Given the description of an element on the screen output the (x, y) to click on. 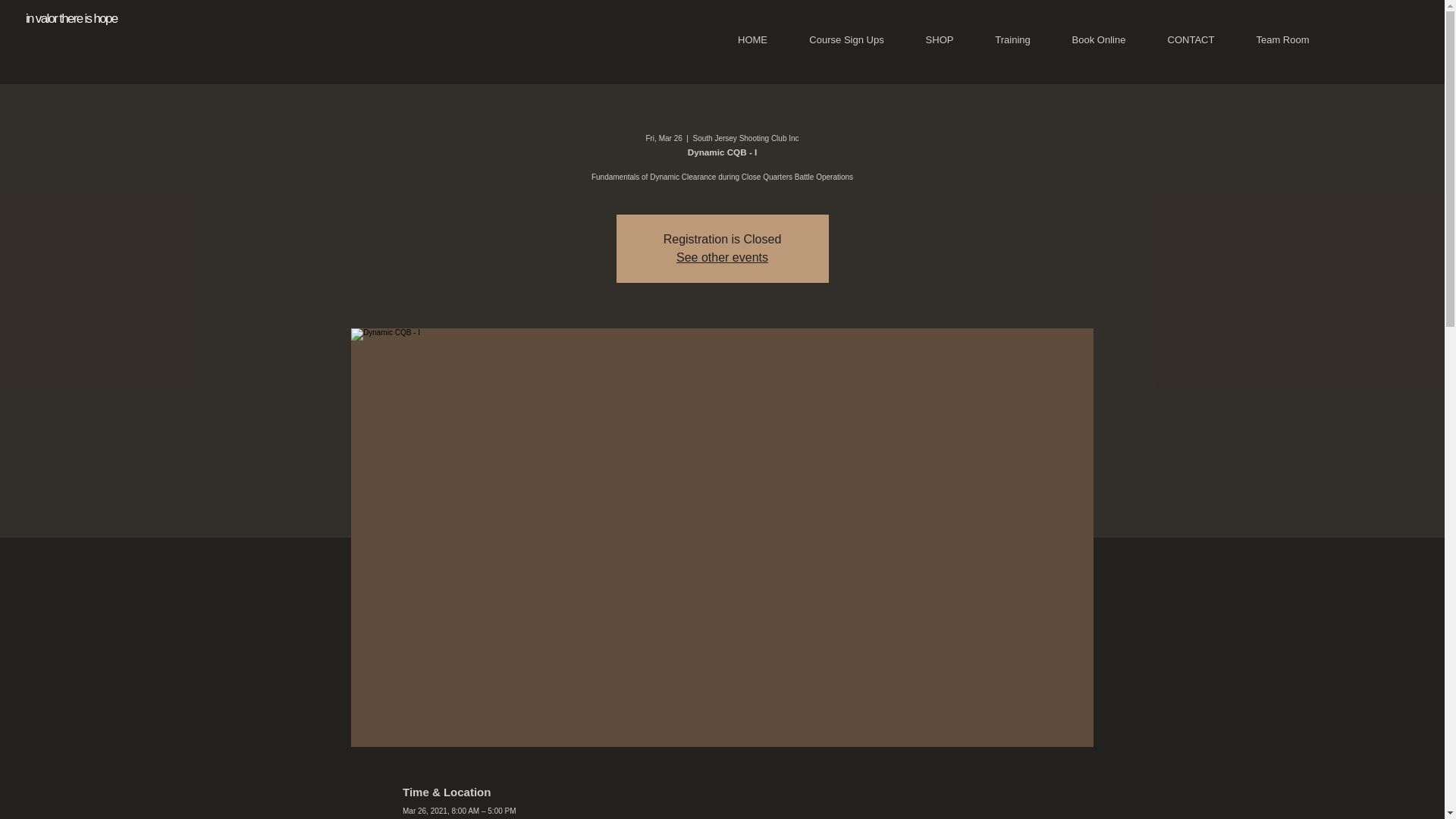
CONTACT (1190, 39)
SHOP (939, 39)
Team Room (1282, 39)
See other events (722, 256)
in valor there is hope (71, 18)
Book Online (1099, 39)
HOME (752, 39)
Training (1012, 39)
Course Sign Ups (846, 39)
